Given the description of an element on the screen output the (x, y) to click on. 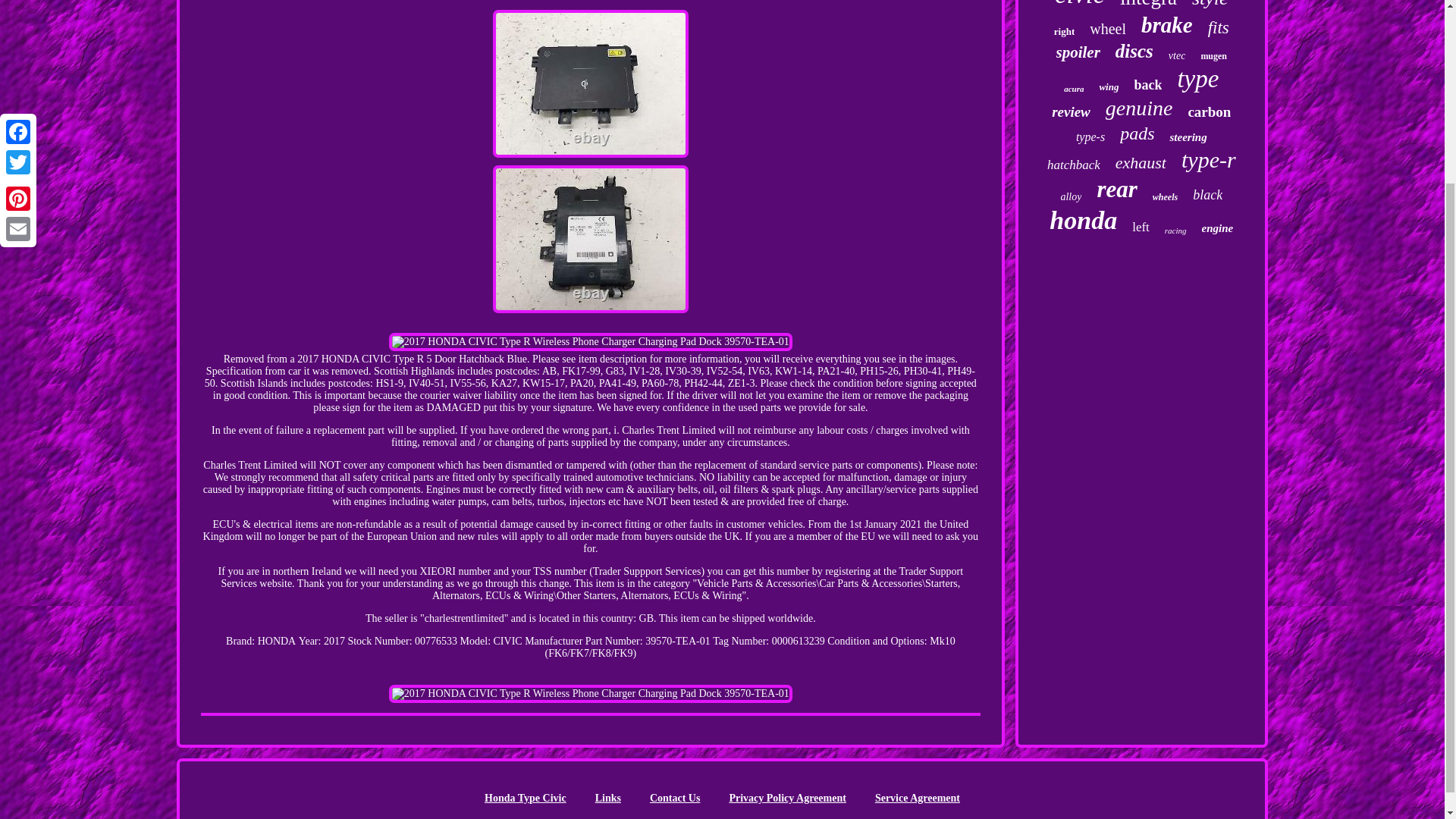
alloy (1070, 196)
steering (1188, 137)
hatchback (1073, 165)
type-s (1090, 137)
vtec (1177, 55)
mugen (1213, 56)
brake (1166, 25)
genuine (1139, 108)
